Given the description of an element on the screen output the (x, y) to click on. 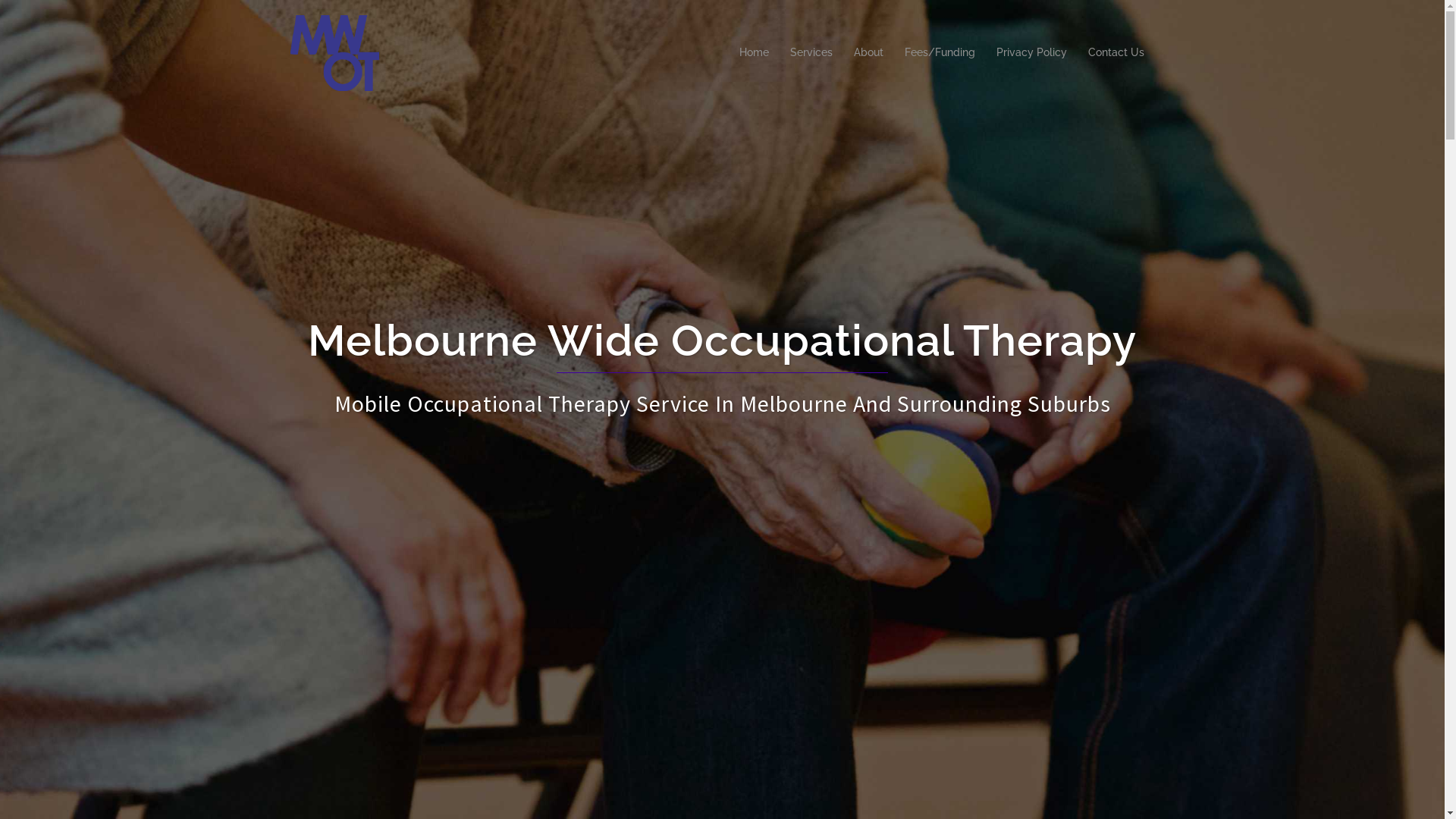
About Element type: text (868, 52)
Contact Us Element type: text (1115, 52)
Melbourne Wide Occupational Therapy Element type: hover (334, 51)
Fees/Funding Element type: text (938, 52)
Services Element type: text (811, 52)
Home Element type: text (753, 52)
Privacy Policy Element type: text (1031, 52)
